Given the description of an element on the screen output the (x, y) to click on. 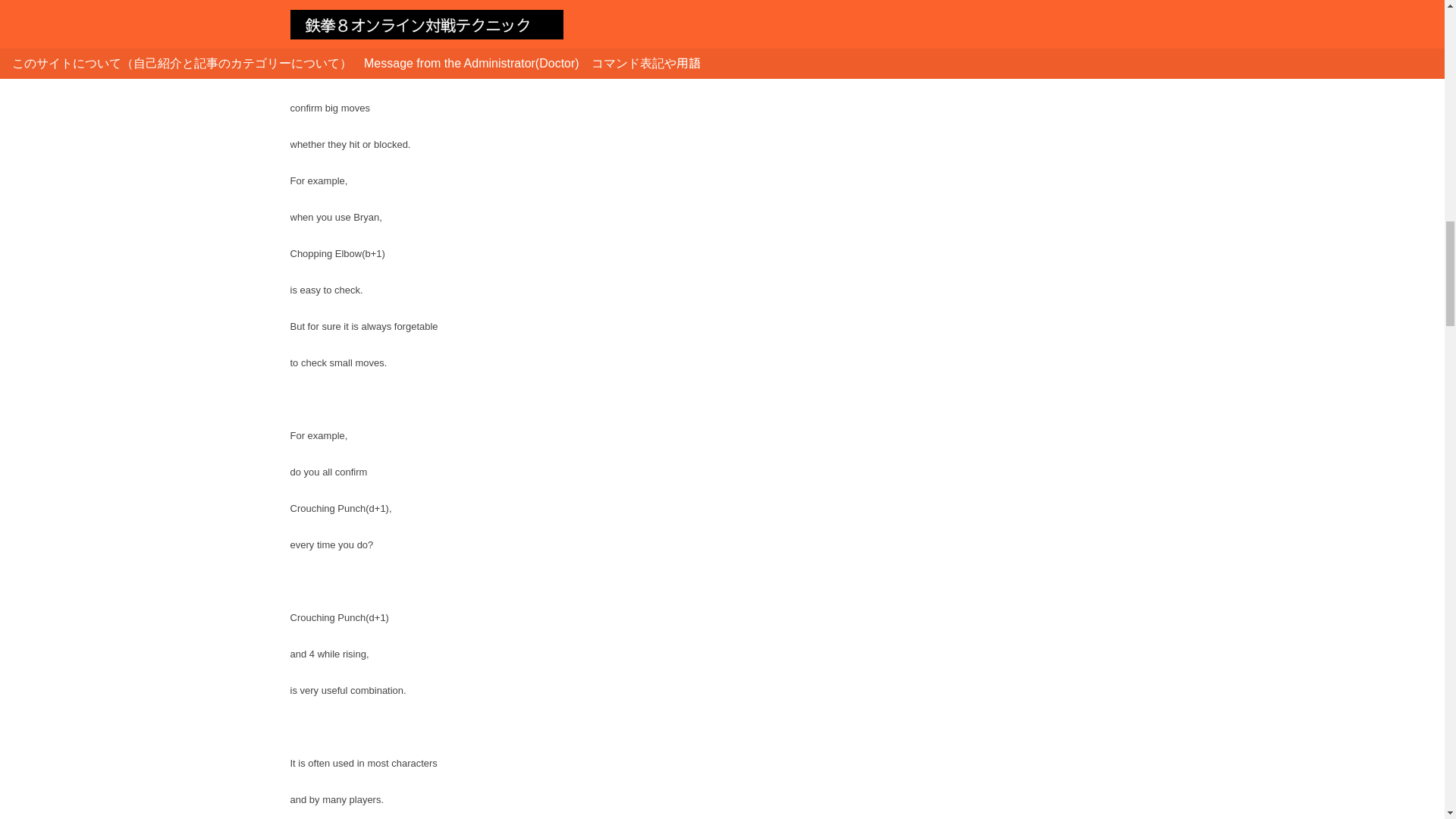
English (948, 0)
Japanese (946, 31)
